Given the description of an element on the screen output the (x, y) to click on. 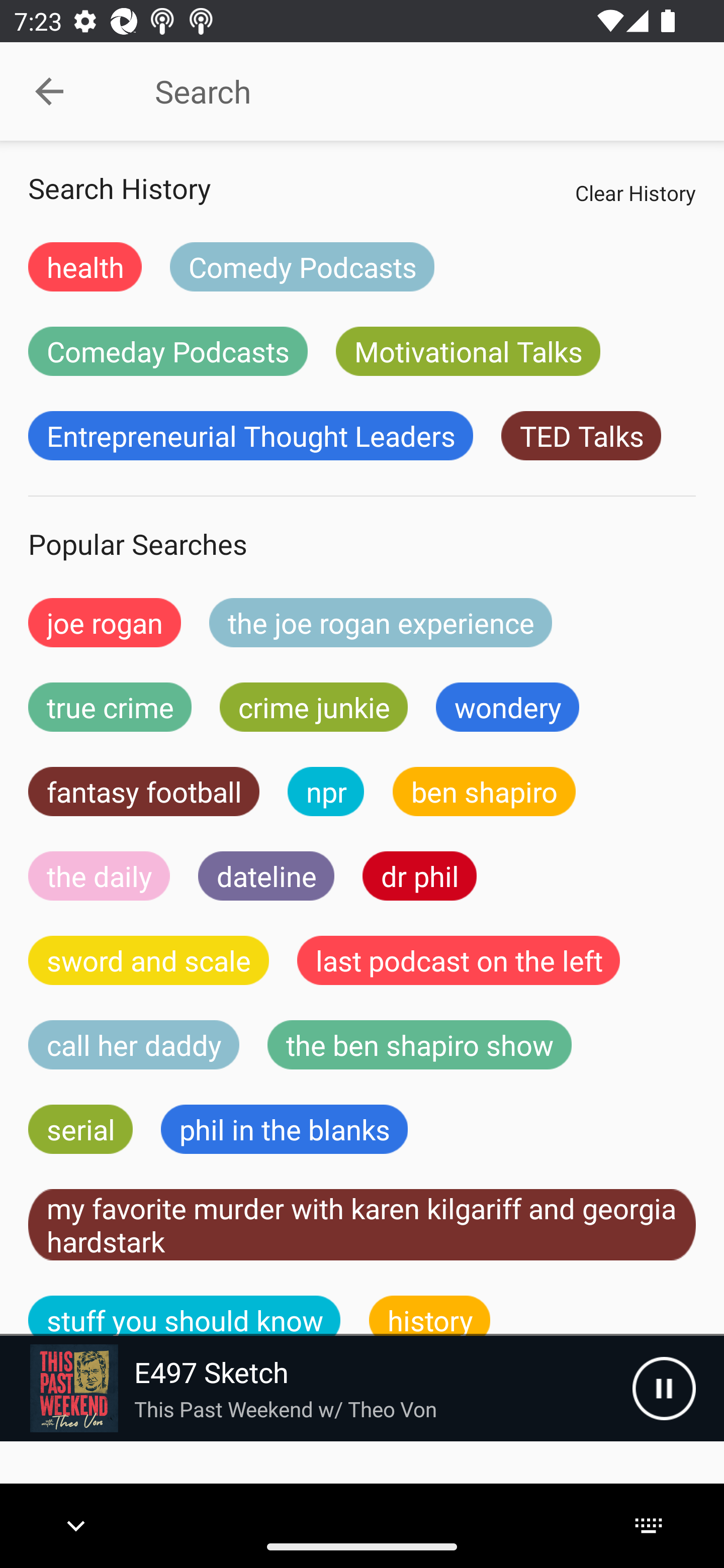
Collapse (49, 91)
Search (407, 91)
Clear History (634, 192)
health (84, 266)
Comedy Podcasts (302, 266)
Comeday Podcasts (167, 351)
Motivational Talks (467, 351)
Entrepreneurial Thought Leaders (250, 435)
TED Talks (581, 435)
joe rogan (104, 622)
the joe rogan experience (380, 622)
true crime (109, 707)
crime junkie (313, 707)
wondery (507, 707)
fantasy football (143, 791)
npr (325, 791)
ben shapiro (483, 791)
the daily (99, 875)
dateline (266, 875)
dr phil (419, 875)
sword and scale (148, 960)
last podcast on the left (458, 960)
call her daddy (133, 1044)
the ben shapiro show (419, 1044)
serial (80, 1128)
phil in the blanks (283, 1128)
stuff you should know (184, 1315)
history (429, 1315)
Picture E497 Sketch This Past Weekend w/ Theo Von (316, 1388)
Pause (663, 1388)
